Given the description of an element on the screen output the (x, y) to click on. 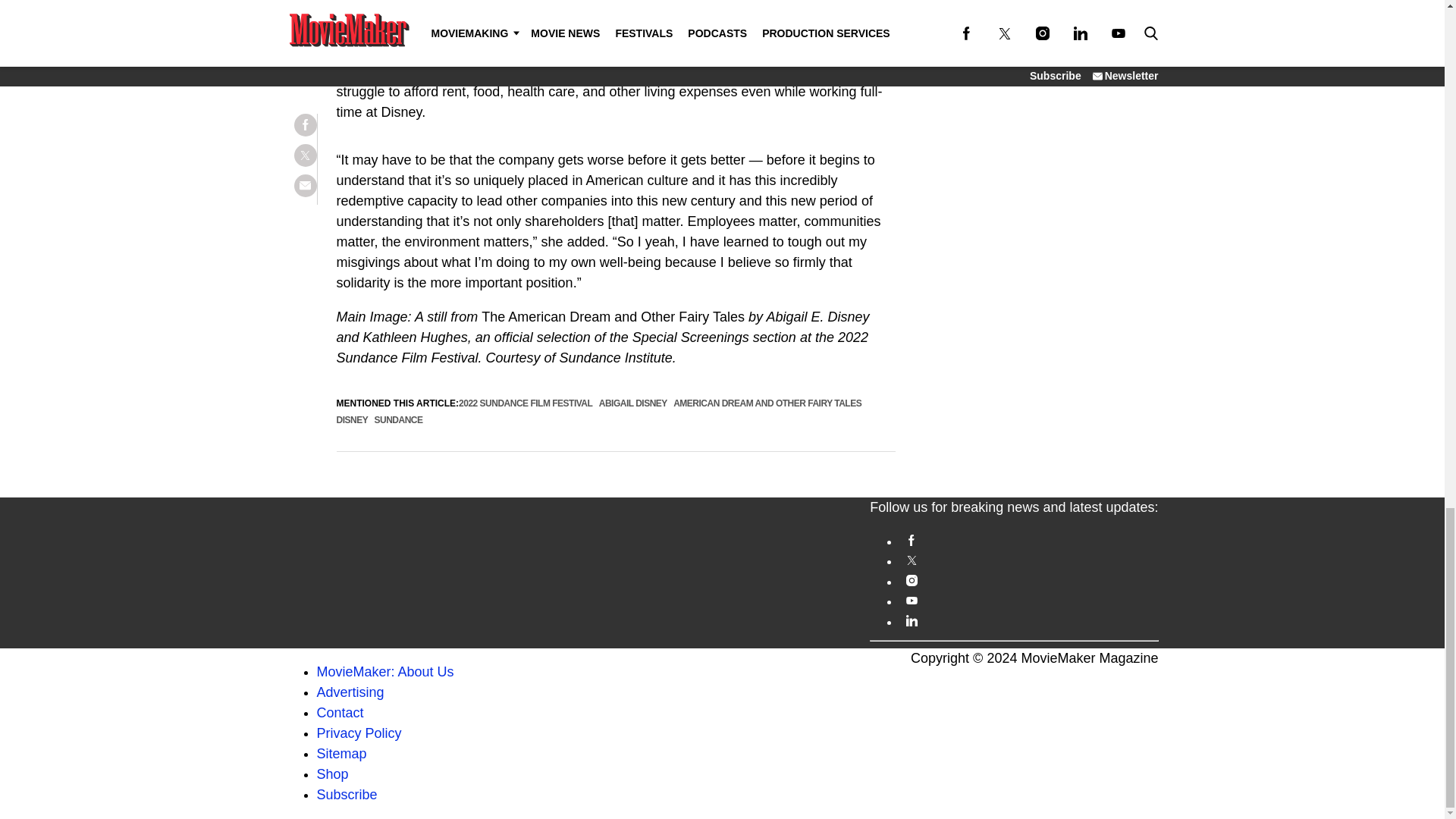
ABIGAIL DISNEY (632, 403)
MovieMaker: About Us (385, 671)
2022 SUNDANCE FILM FESTIVAL (525, 403)
DISNEY (352, 419)
Connect with us on LinkedIn (1028, 620)
SUNDANCE (398, 419)
Subscribe to our YouTube channel (1028, 600)
Contact MovieMaker Magazine (340, 712)
Follow us on Instagram (1028, 580)
Follow us on Twitter (1028, 559)
